Given the description of an element on the screen output the (x, y) to click on. 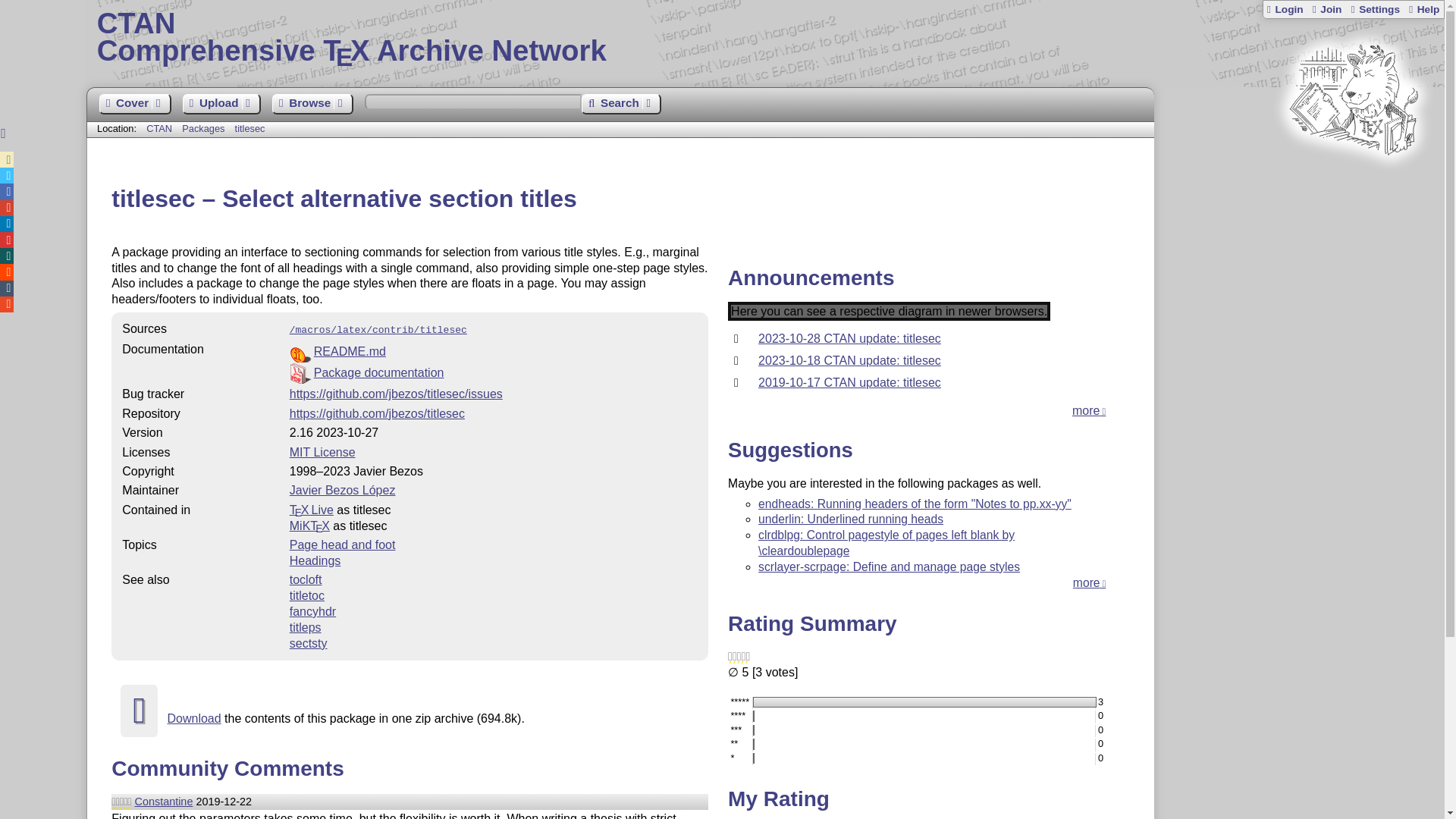
Adjust the appearance to your taste (1374, 8)
README.md (349, 350)
Portable Document Format (765, 37)
Login with your personal account (493, 372)
CTAN lion drawing by Duane Bibby (1284, 8)
Cover (1353, 183)
Browse (134, 104)
Register a new personal account on this site (312, 104)
